Given the description of an element on the screen output the (x, y) to click on. 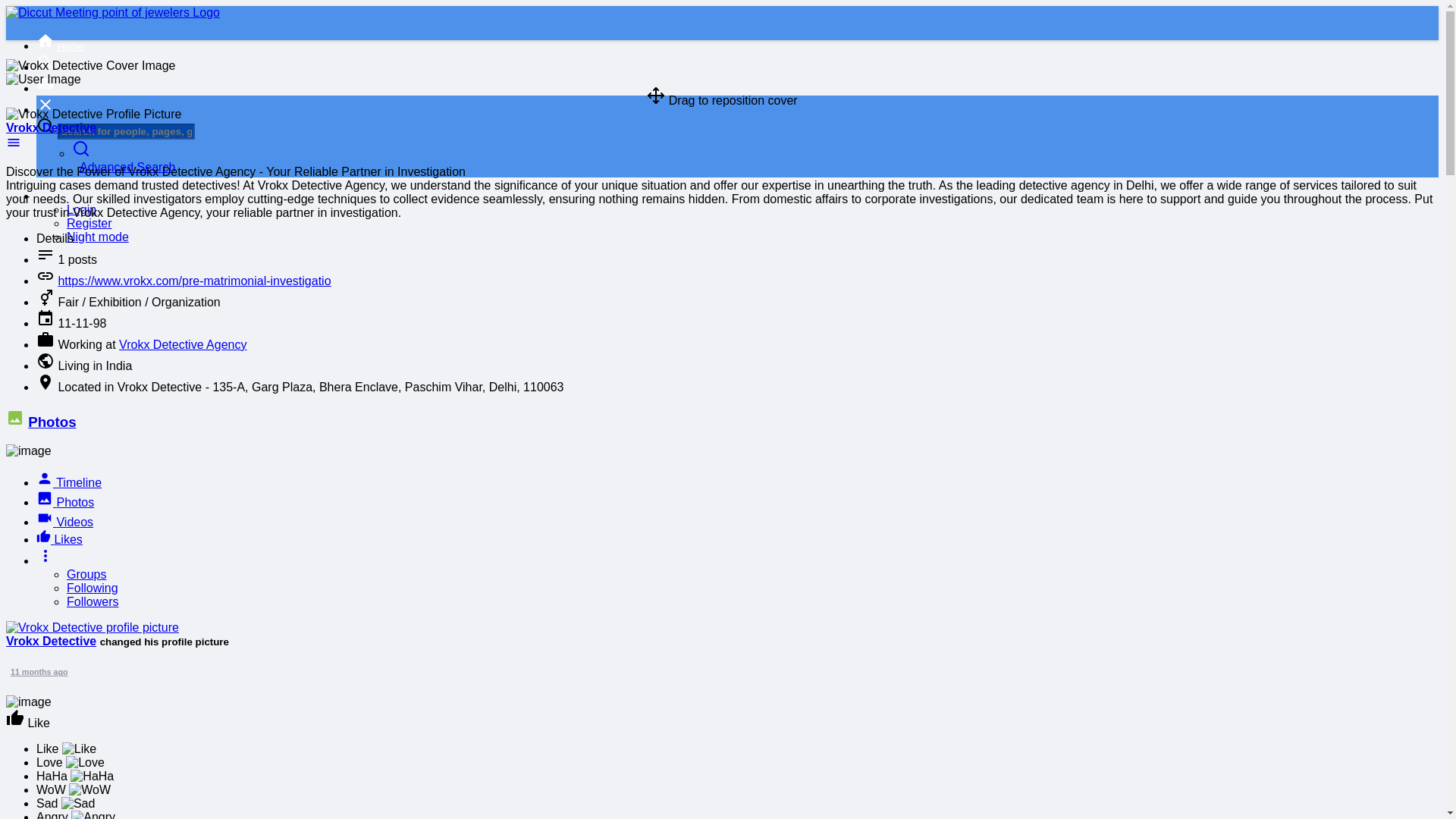
Vrokx Detective Agency (182, 344)
Followers (91, 601)
Photos (65, 502)
Videos (64, 521)
Login (81, 209)
Register (89, 223)
Guest (49, 196)
Likes (59, 539)
11 months ago (39, 671)
Photos (51, 421)
